Given the description of an element on the screen output the (x, y) to click on. 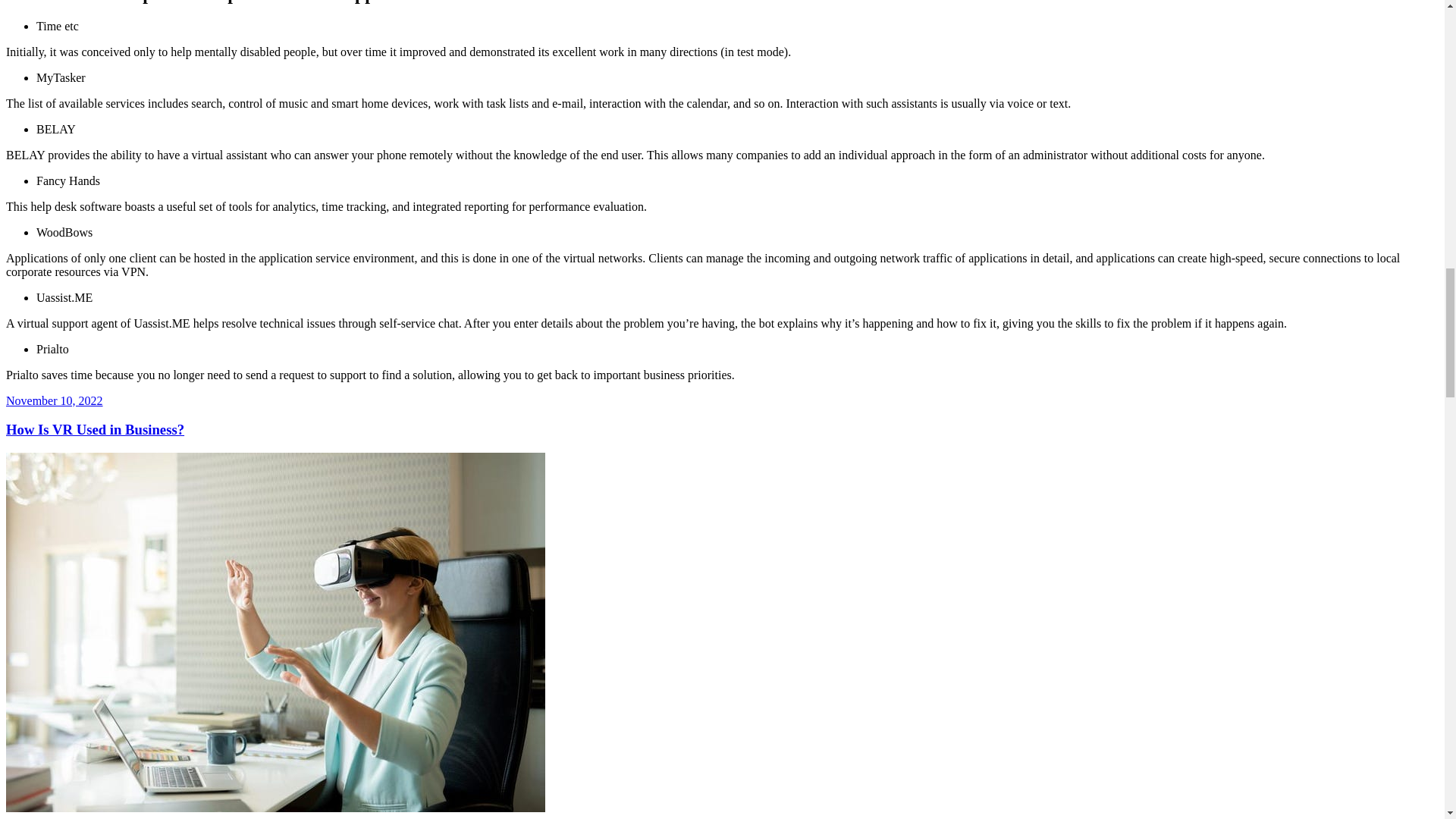
November 10, 2022 (54, 400)
How Is VR Used in Business? (94, 429)
